Given the description of an element on the screen output the (x, y) to click on. 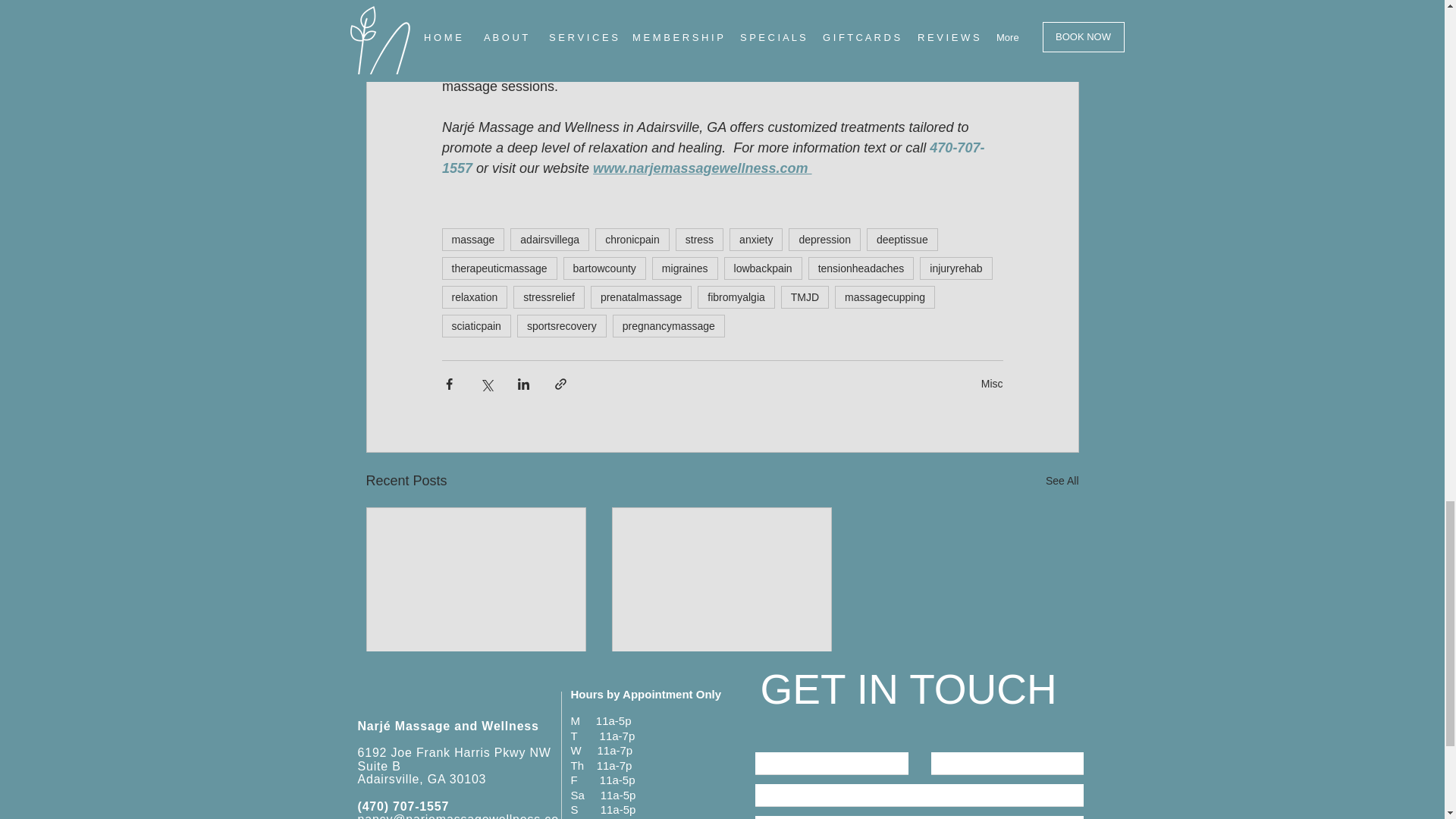
bartowcounty (604, 268)
migraines (684, 268)
chronicpain (632, 239)
depression (824, 239)
adairsvillega (550, 239)
stress (699, 239)
massage (472, 239)
deeptissue (901, 239)
www.narjemassagewellness.com  (701, 168)
anxiety (756, 239)
therapeuticmassage (498, 268)
